Given the description of an element on the screen output the (x, y) to click on. 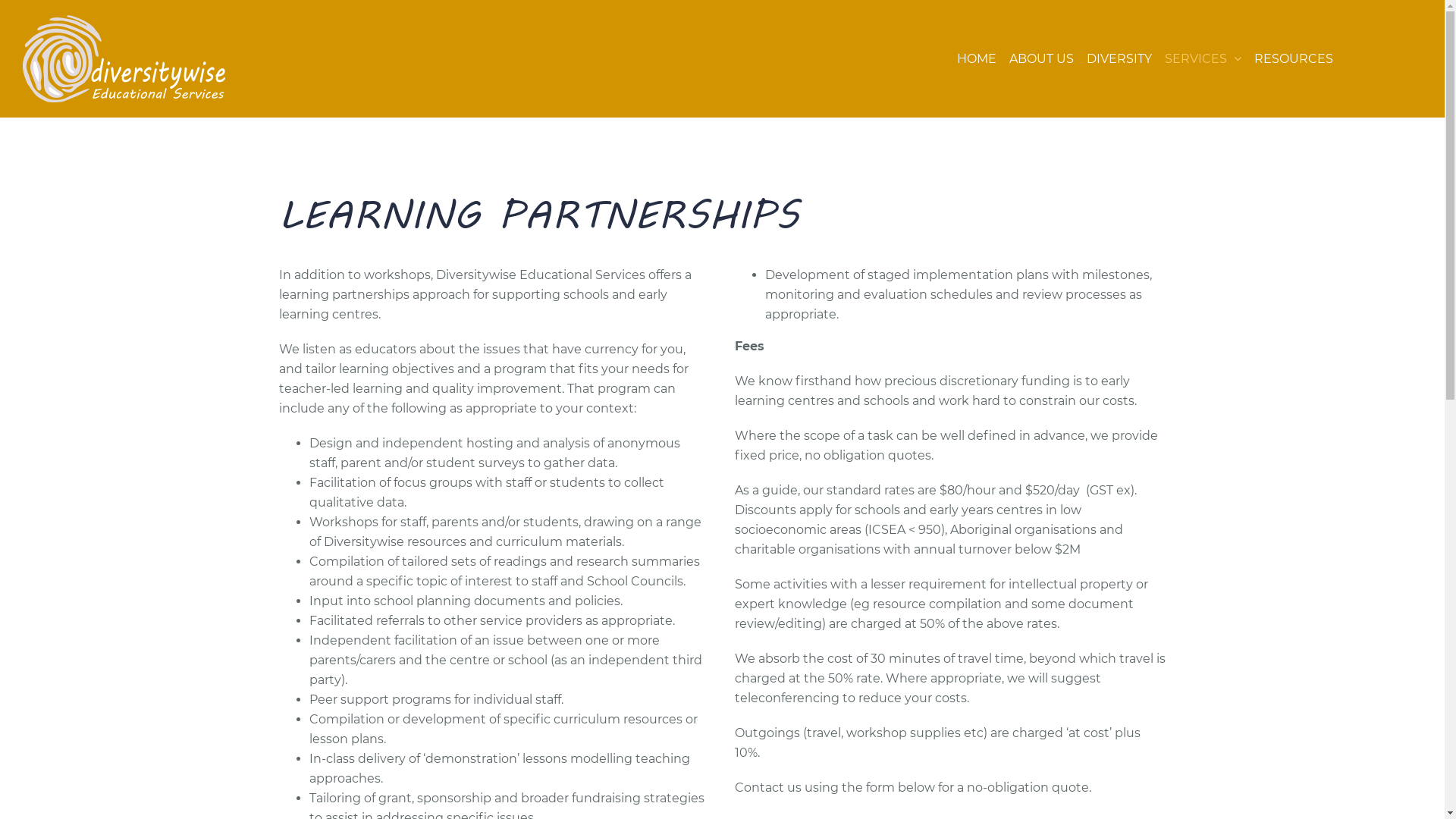
DIVERSITY Element type: text (1118, 58)
HOME Element type: text (976, 58)
RESOURCES Element type: text (1293, 58)
ABOUT US Element type: text (1041, 58)
SERVICES Element type: text (1202, 58)
